Given the description of an element on the screen output the (x, y) to click on. 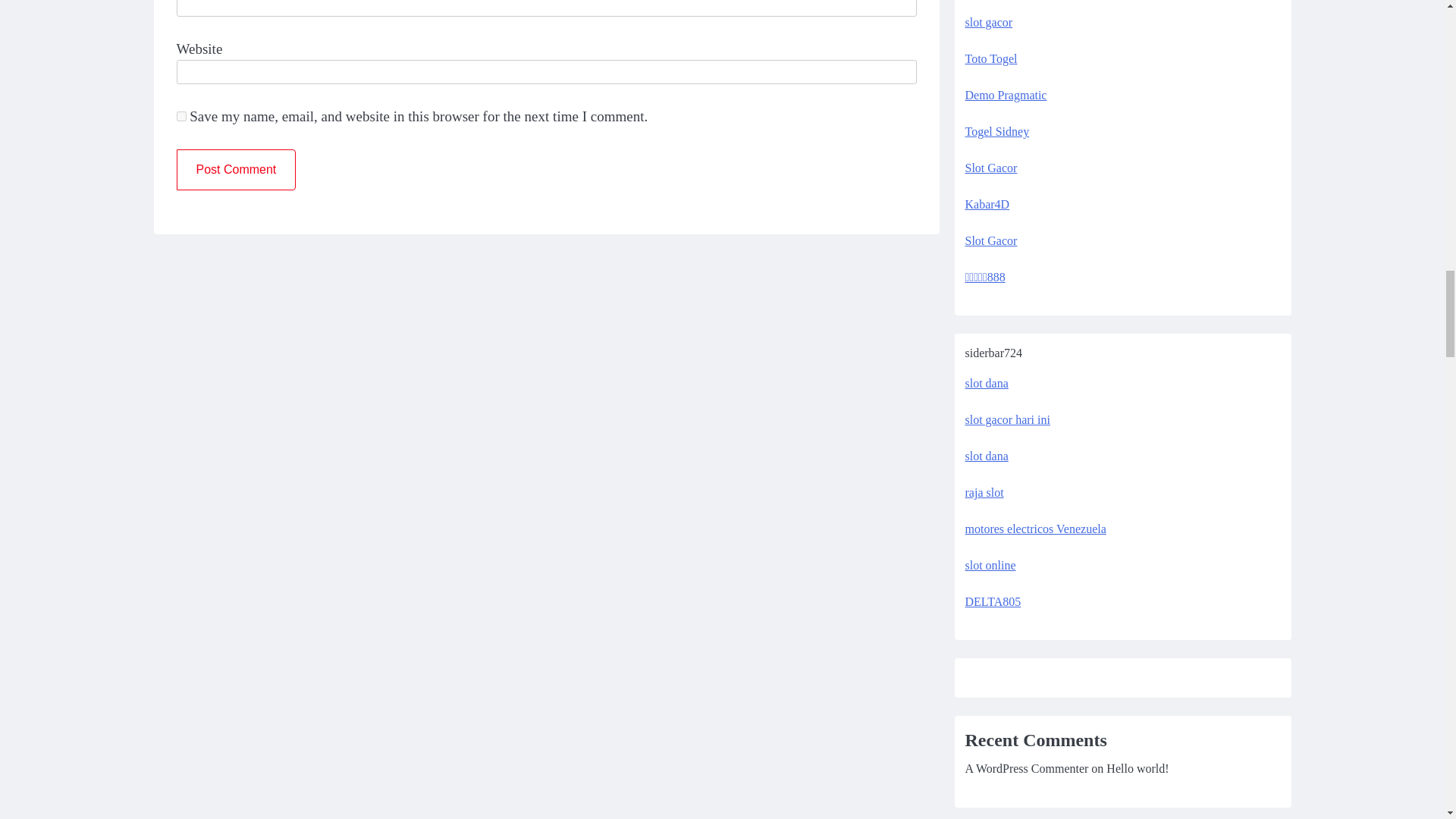
Post Comment (235, 169)
yes (181, 116)
Post Comment (235, 169)
